Given the description of an element on the screen output the (x, y) to click on. 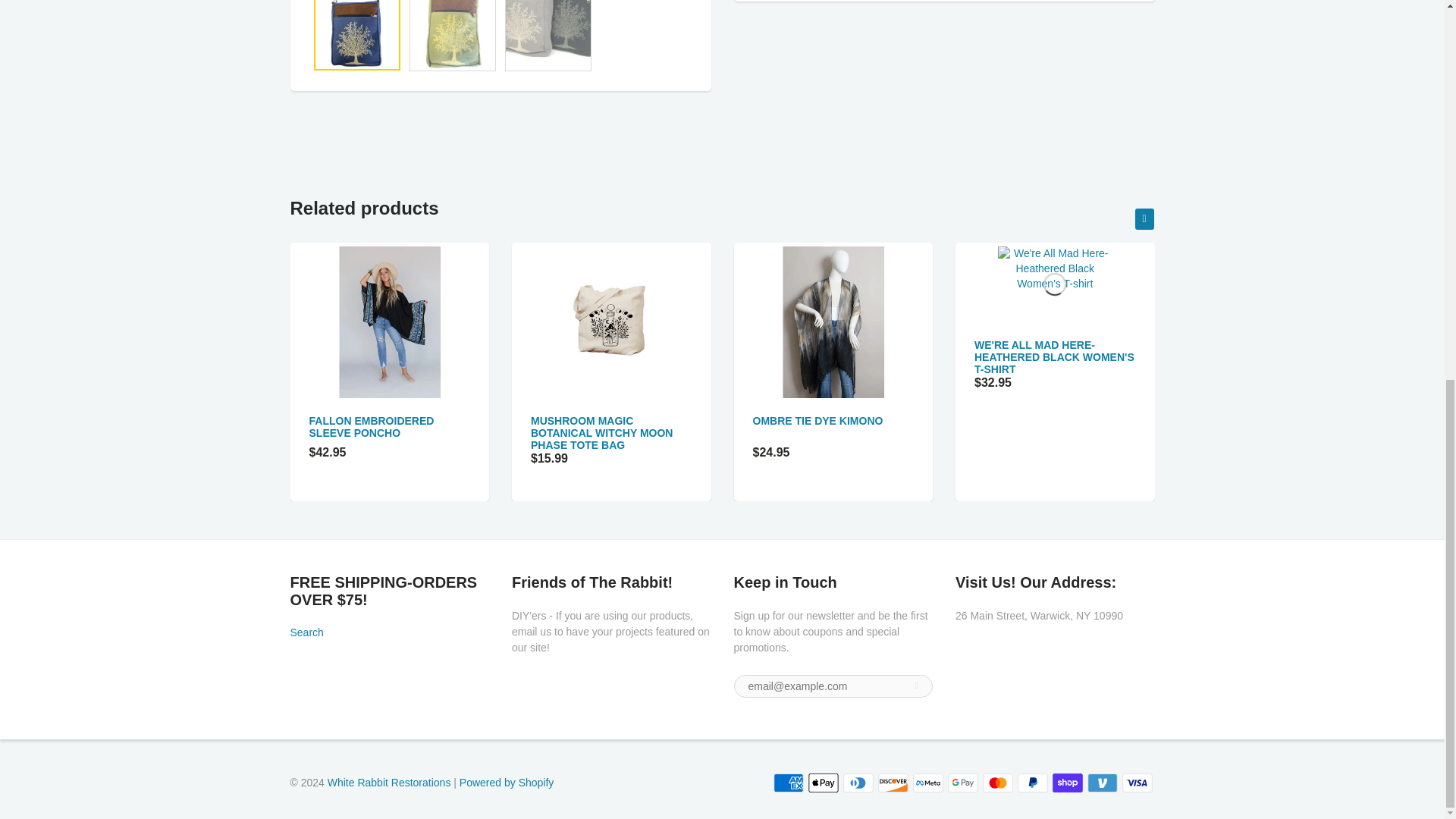
American Express (788, 782)
Discover (892, 782)
Google Pay (962, 782)
Apple Pay (823, 782)
Visa (1137, 782)
PayPal (1032, 782)
Meta Pay (927, 782)
Mastercard (997, 782)
Diners Club (858, 782)
Shop Pay (1067, 782)
